Given the description of an element on the screen output the (x, y) to click on. 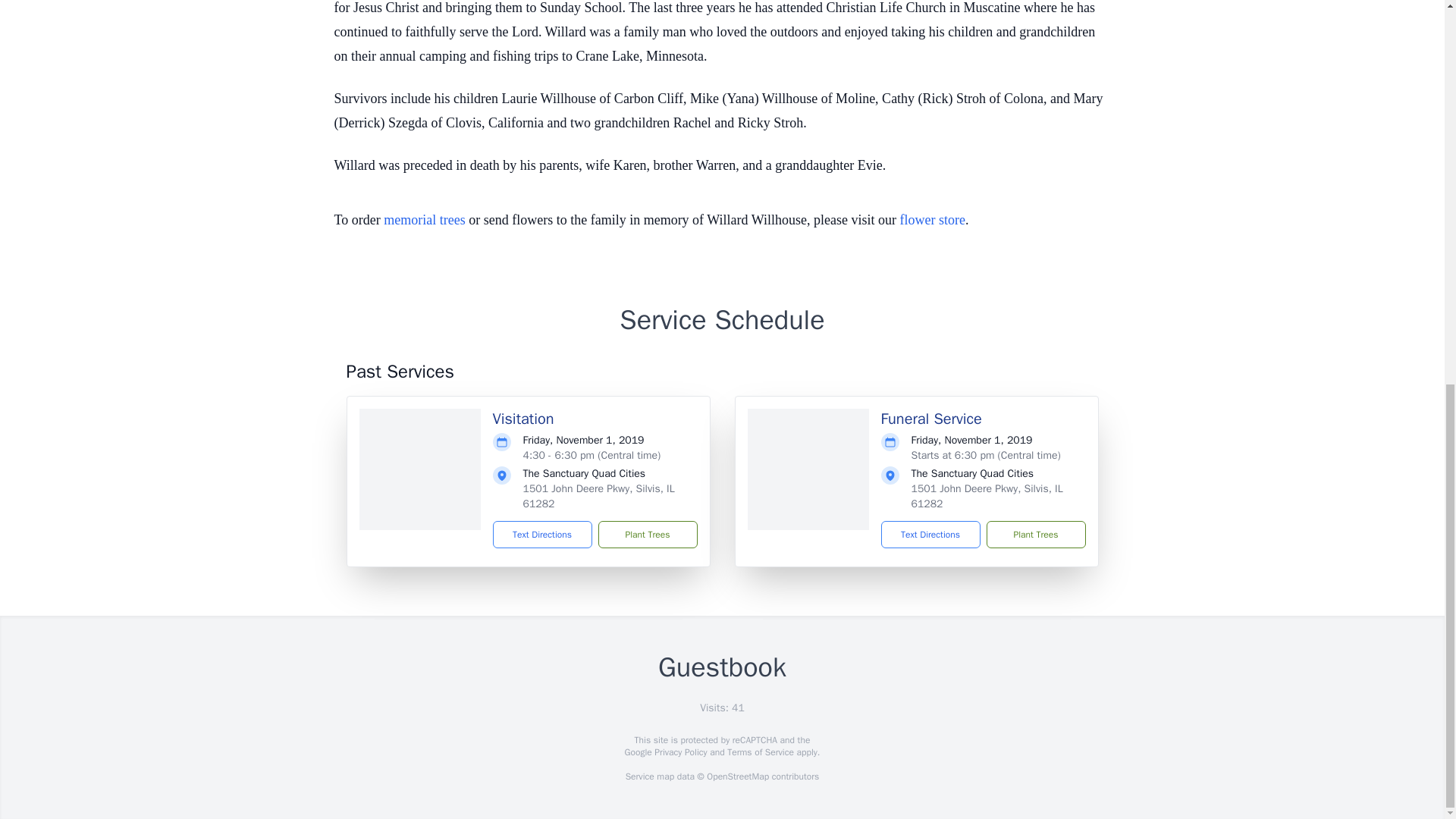
1501 John Deere Pkwy, Silvis, IL 61282 (986, 496)
Privacy Policy (679, 752)
Terms of Service (759, 752)
Text Directions (929, 533)
Text Directions (542, 533)
Plant Trees (646, 533)
memorial trees (424, 219)
OpenStreetMap (737, 776)
Plant Trees (1034, 533)
1501 John Deere Pkwy, Silvis, IL 61282 (598, 496)
